Given the description of an element on the screen output the (x, y) to click on. 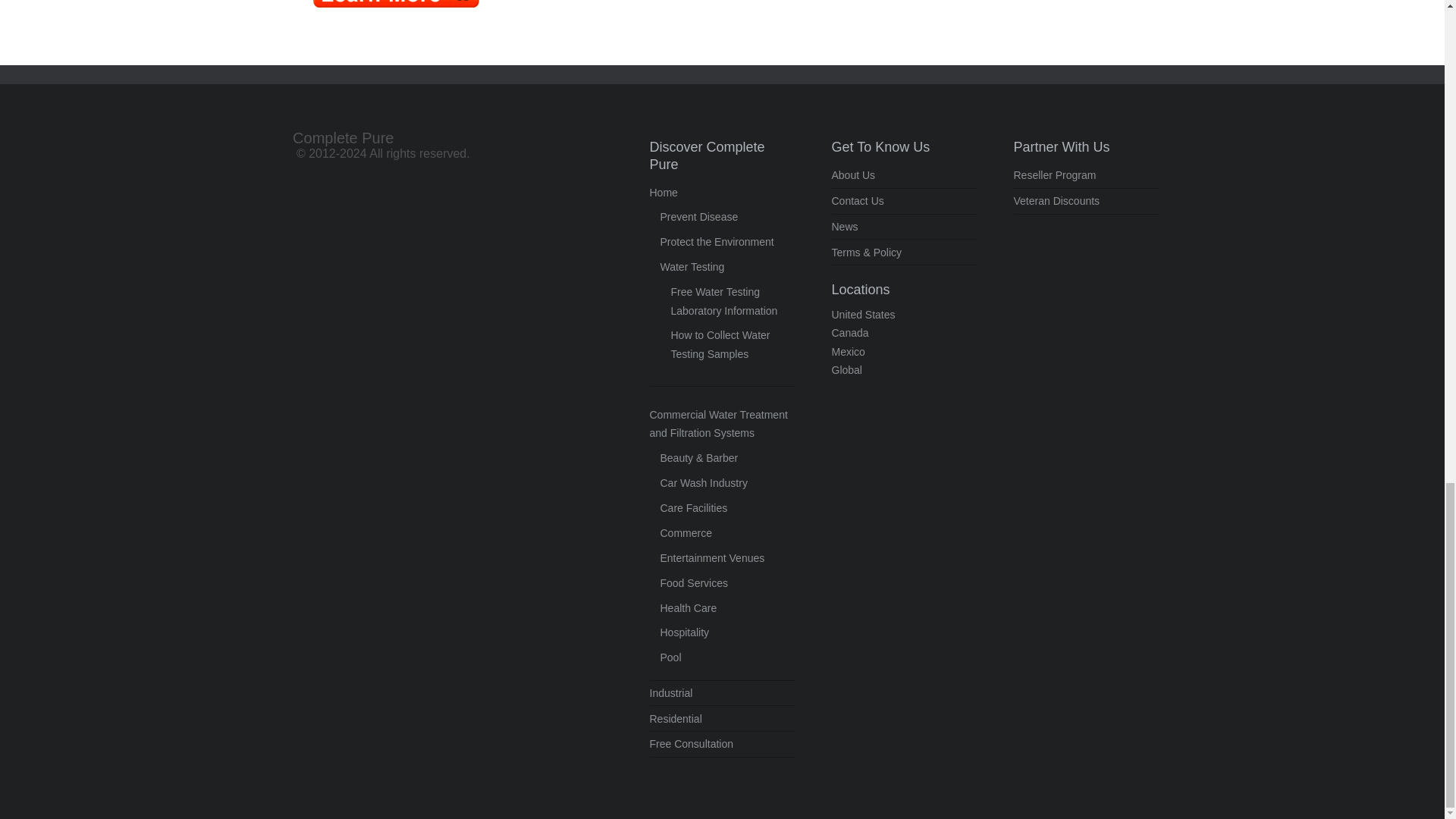
Entertainment Venues (711, 558)
Commercial Water Treatment and Filtration Systems (718, 423)
Prevent Disease (698, 216)
Complete Pure (342, 137)
Home (663, 192)
Protect the Environment (716, 241)
Commerce (685, 532)
Free Water Testing Laboratory Information (723, 300)
Hospitality (684, 632)
Pool (670, 657)
Home Water Treatment Information (396, 4)
Car Wash Industry (702, 482)
Water Testing (691, 266)
Care Facilities (692, 508)
How to Collect Water Testing Samples (719, 344)
